Given the description of an element on the screen output the (x, y) to click on. 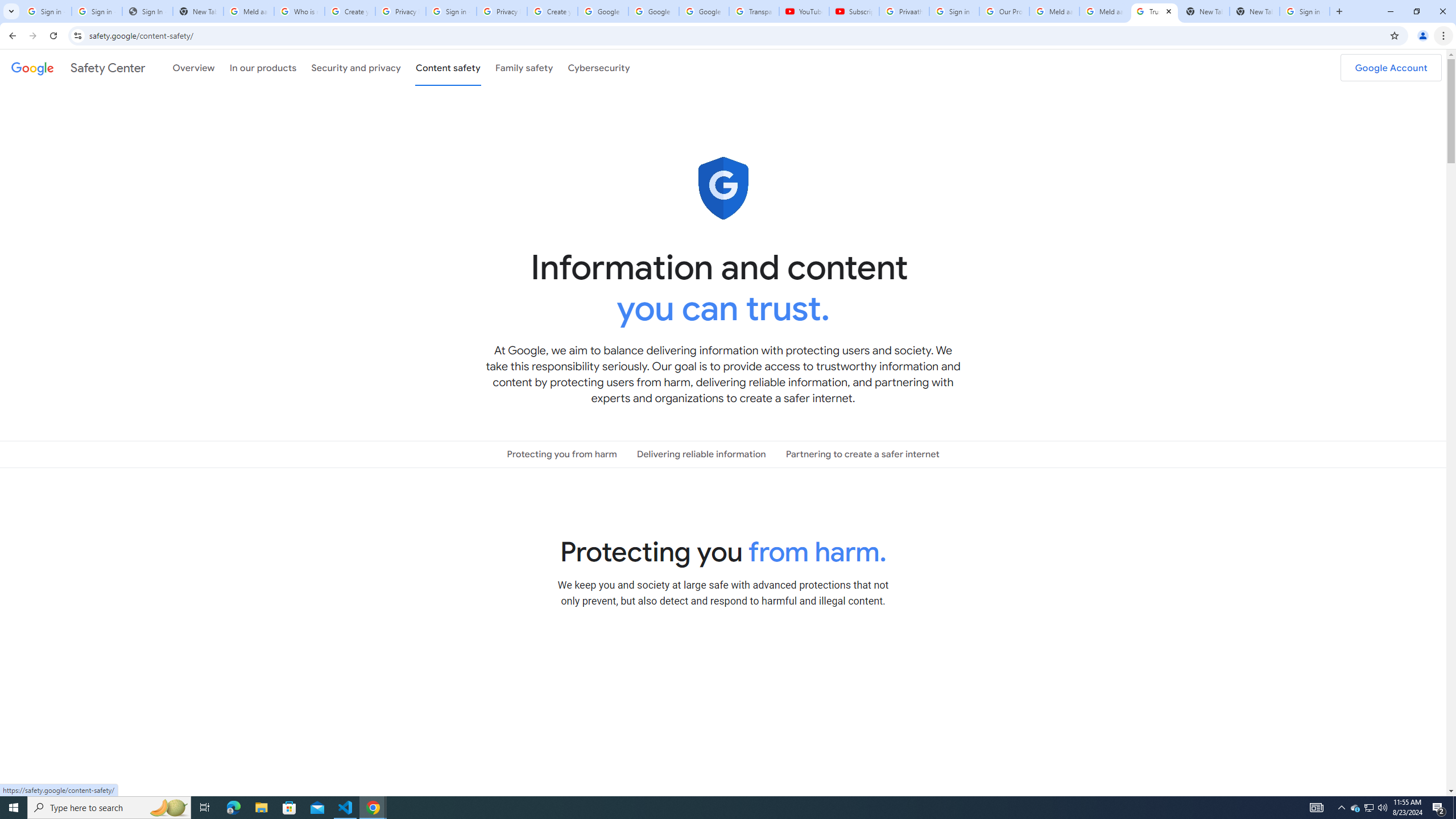
Who is my administrator? - Google Account Help (299, 11)
Family safety (523, 67)
Delivering reliable information (700, 454)
Expand All (988, 653)
Sign in - Google Accounts (1304, 11)
Subscriptions - YouTube (853, 11)
YouTube (804, 11)
